Given the description of an element on the screen output the (x, y) to click on. 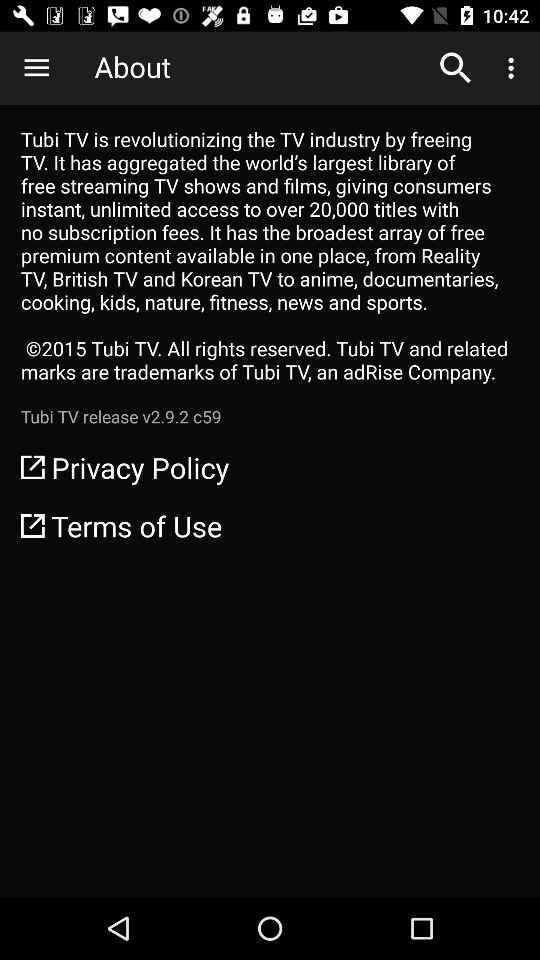
click the icon above tubi tv is (455, 67)
